Given the description of an element on the screen output the (x, y) to click on. 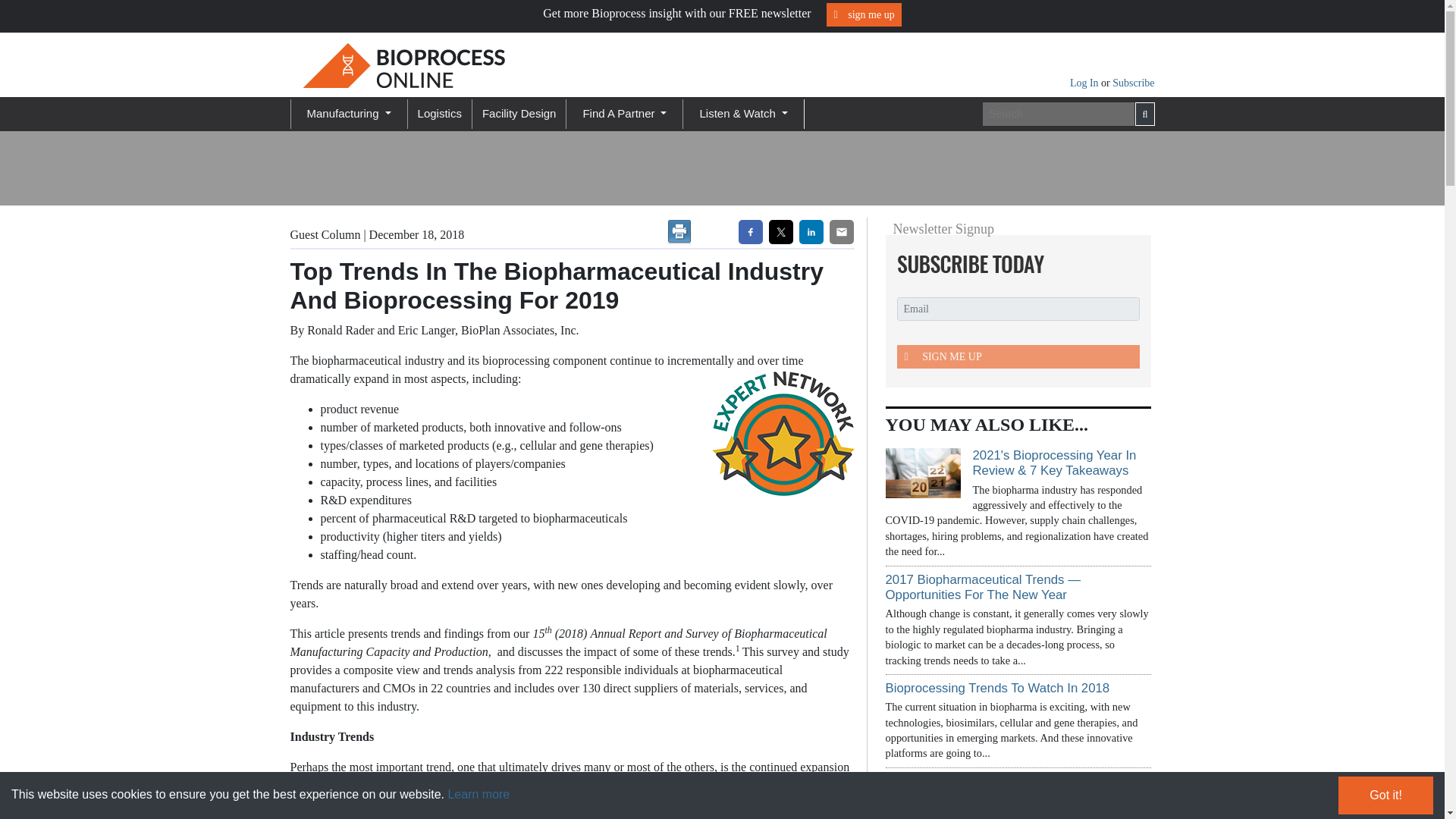
Find A Partner (624, 113)
Log In (1085, 82)
Newsletter Signup (1013, 263)
Subscribe (1133, 82)
sign me up (864, 14)
Facility Design (518, 113)
3rd party ad content (623, 168)
Bioprocessing Trends To Watch In 2018 (997, 687)
Logistics (439, 113)
Print (679, 232)
